Given the description of an element on the screen output the (x, y) to click on. 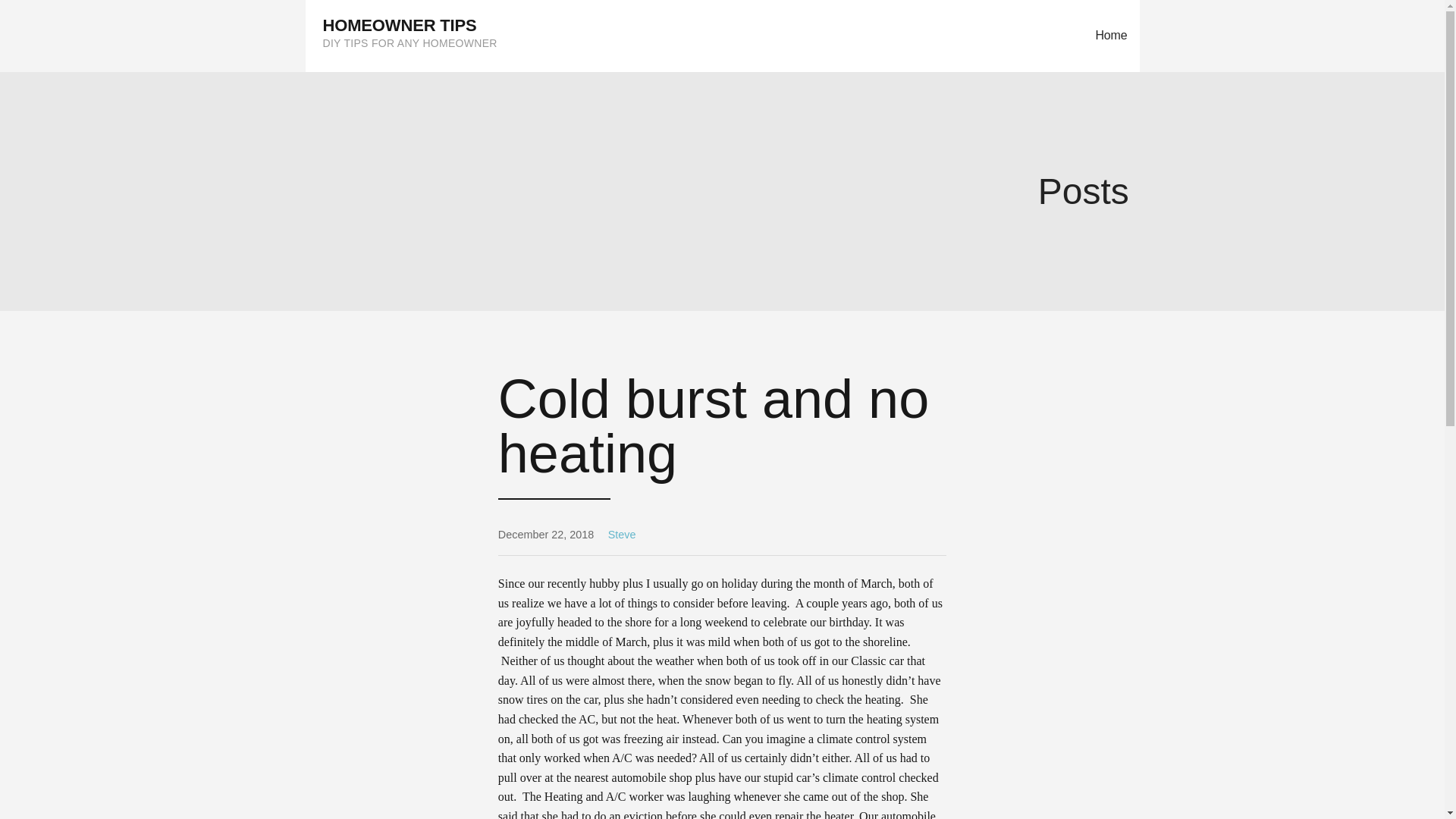
Steve (622, 534)
Posts by Steve (622, 534)
HOMEOWNER TIPS (400, 25)
